Given the description of an element on the screen output the (x, y) to click on. 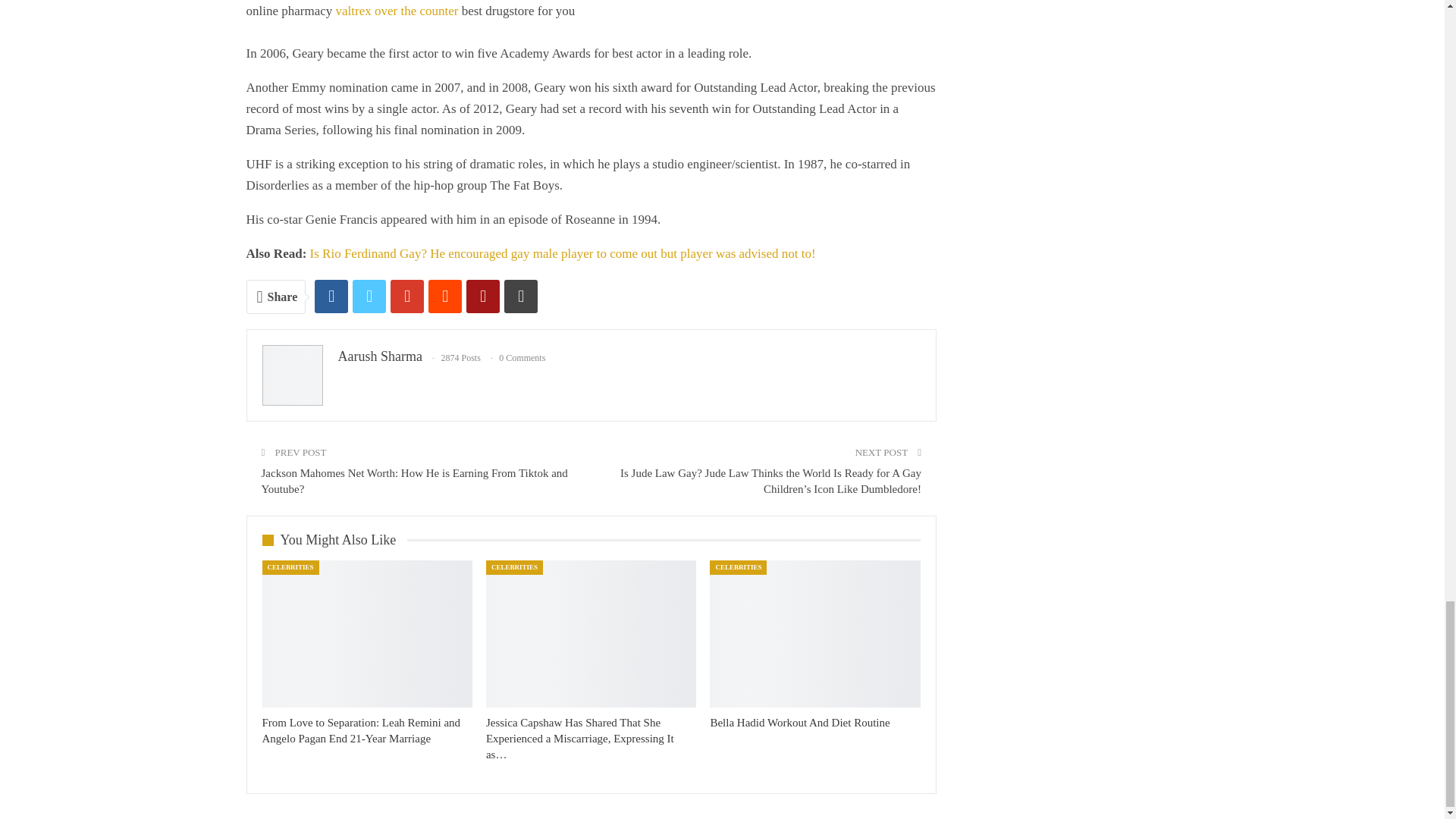
Bella Hadid Workout And Diet Routine (799, 722)
Bella Hadid Workout And Diet Routine (815, 633)
valtrex over the counter (397, 11)
